Given the description of an element on the screen output the (x, y) to click on. 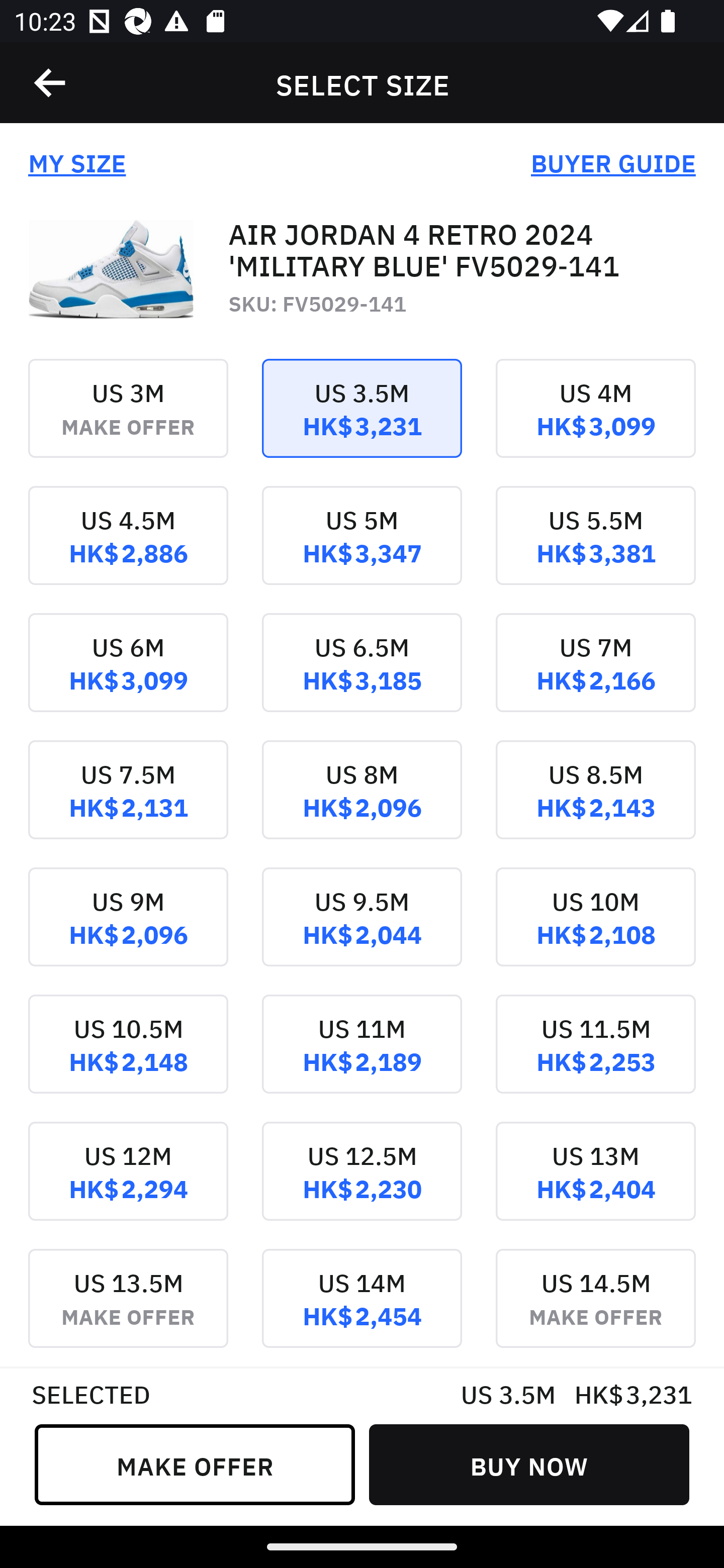
 (50, 83)
US 3M MAKE OFFER (128, 422)
US 3.5M HK$ 3,231 (361, 422)
US 4M HK$ 3,099 (595, 422)
US 4.5M HK$ 2,886 (128, 549)
US 5M HK$ 3,347 (361, 549)
US 5.5M HK$ 3,381 (595, 549)
US 6M HK$ 3,099 (128, 676)
US 6.5M HK$ 3,185 (361, 676)
US 7M HK$ 2,166 (595, 676)
US 7.5M HK$ 2,131 (128, 803)
US 8M HK$ 2,096 (361, 803)
US 8.5M HK$ 2,143 (595, 803)
US 9M HK$ 2,096 (128, 930)
US 9.5M HK$ 2,044 (361, 930)
US 10M HK$ 2,108 (595, 930)
US 10.5M HK$ 2,148 (128, 1057)
US 11M HK$ 2,189 (361, 1057)
US 11.5M HK$ 2,253 (595, 1057)
US 12M HK$ 2,294 (128, 1184)
US 12.5M HK$ 2,230 (361, 1184)
US 13M HK$ 2,404 (595, 1184)
US 13.5M MAKE OFFER (128, 1306)
US 14M HK$ 2,454 (361, 1306)
US 14.5M MAKE OFFER (595, 1306)
MAKE OFFER (194, 1464)
BUY NOW (529, 1464)
